Given the description of an element on the screen output the (x, y) to click on. 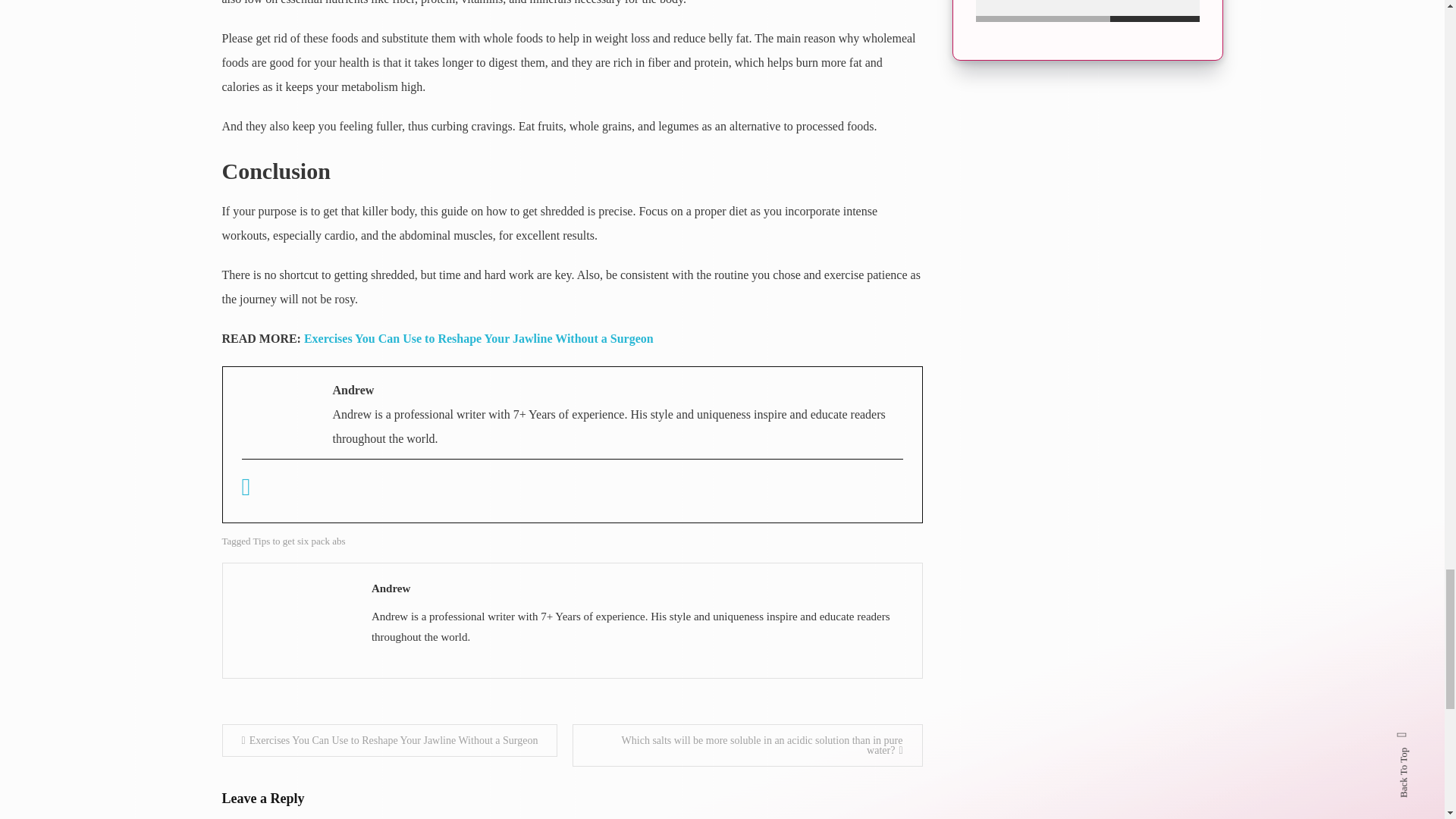
Andrew (639, 588)
Tips to get six pack abs (299, 541)
